Given the description of an element on the screen output the (x, y) to click on. 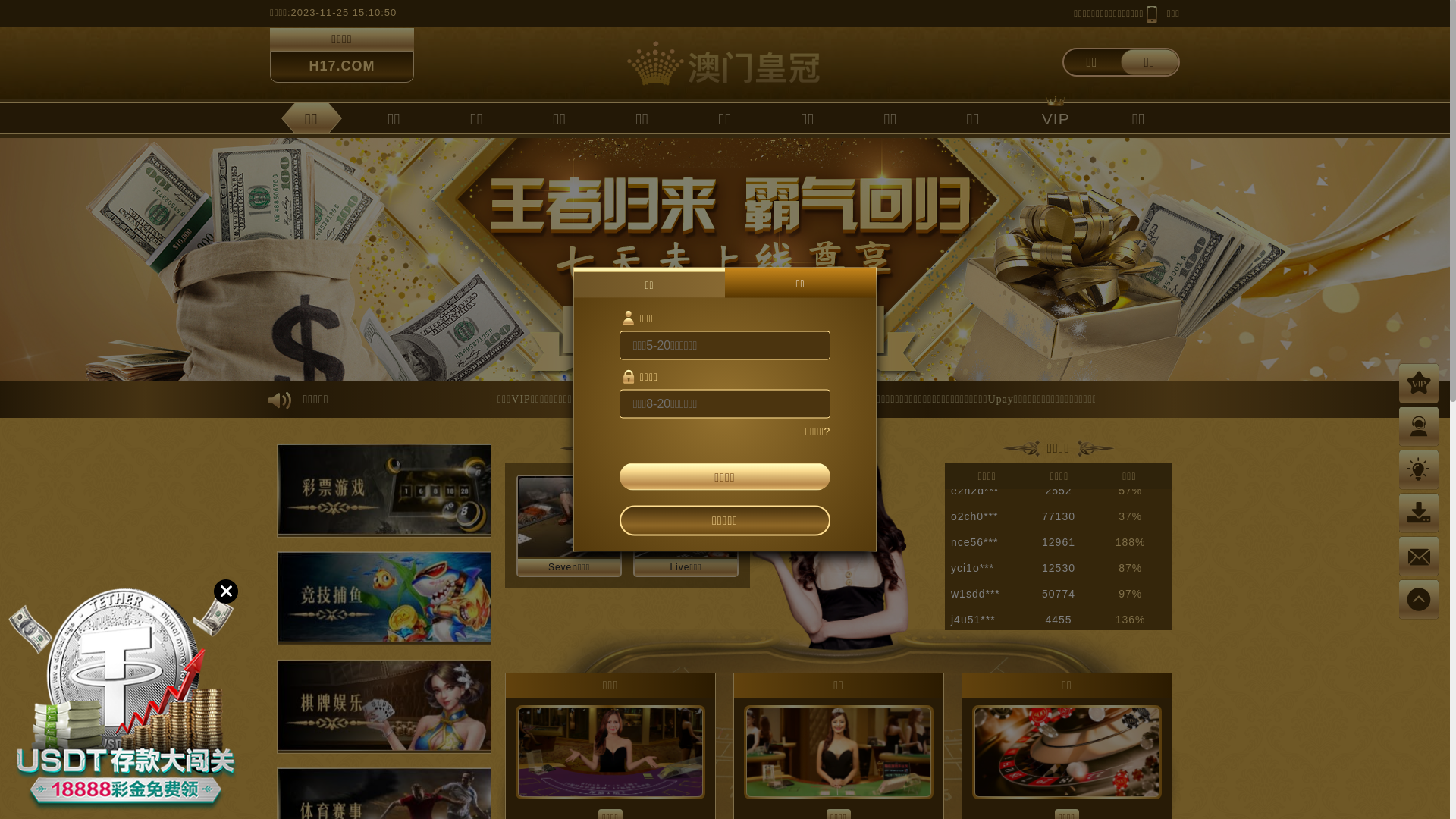
VIP Element type: text (1055, 118)
